Given the description of an element on the screen output the (x, y) to click on. 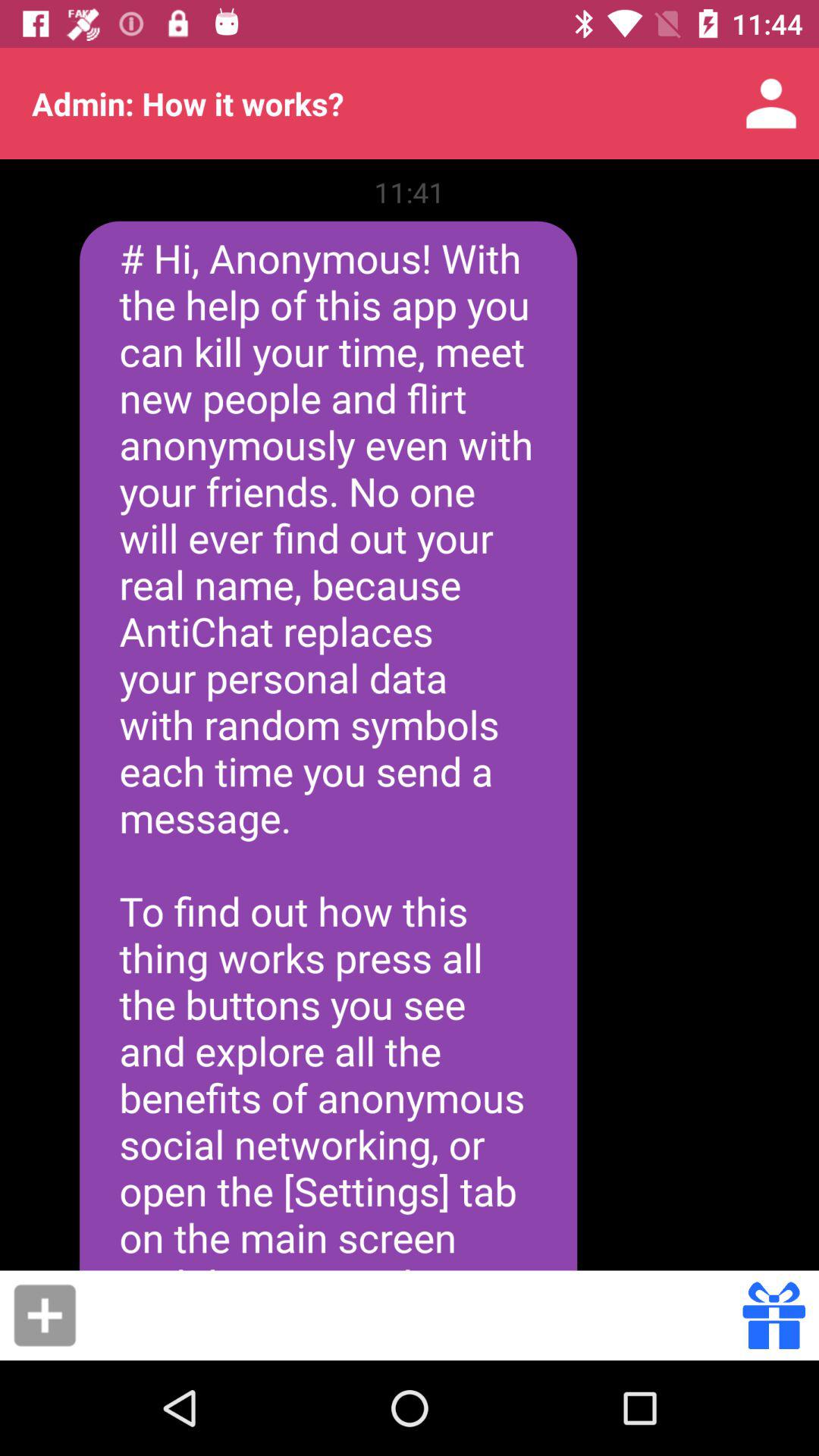
click the icon below 11:41 (328, 745)
